Given the description of an element on the screen output the (x, y) to click on. 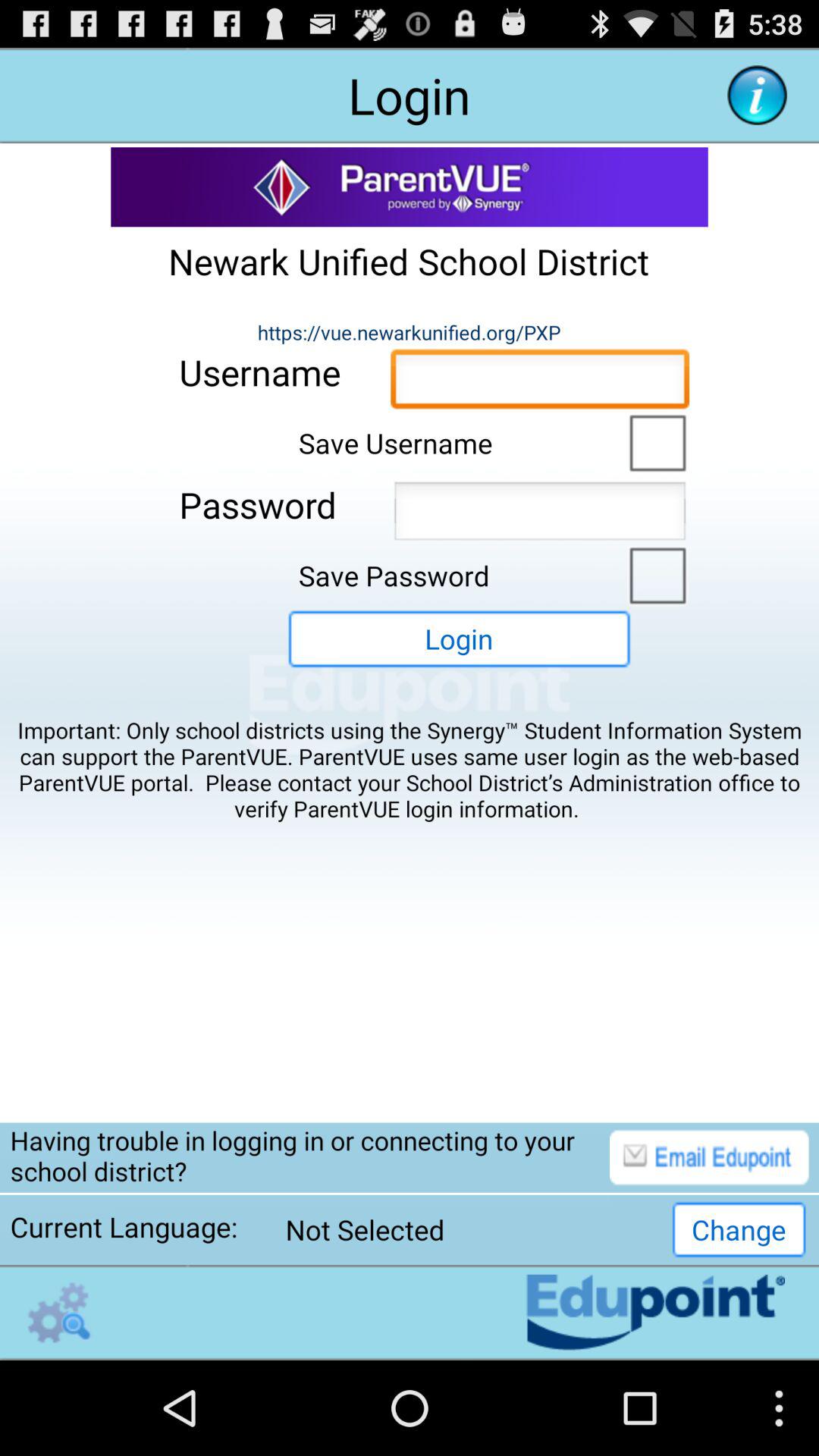
switch autoplay option (654, 574)
